Given the description of an element on the screen output the (x, y) to click on. 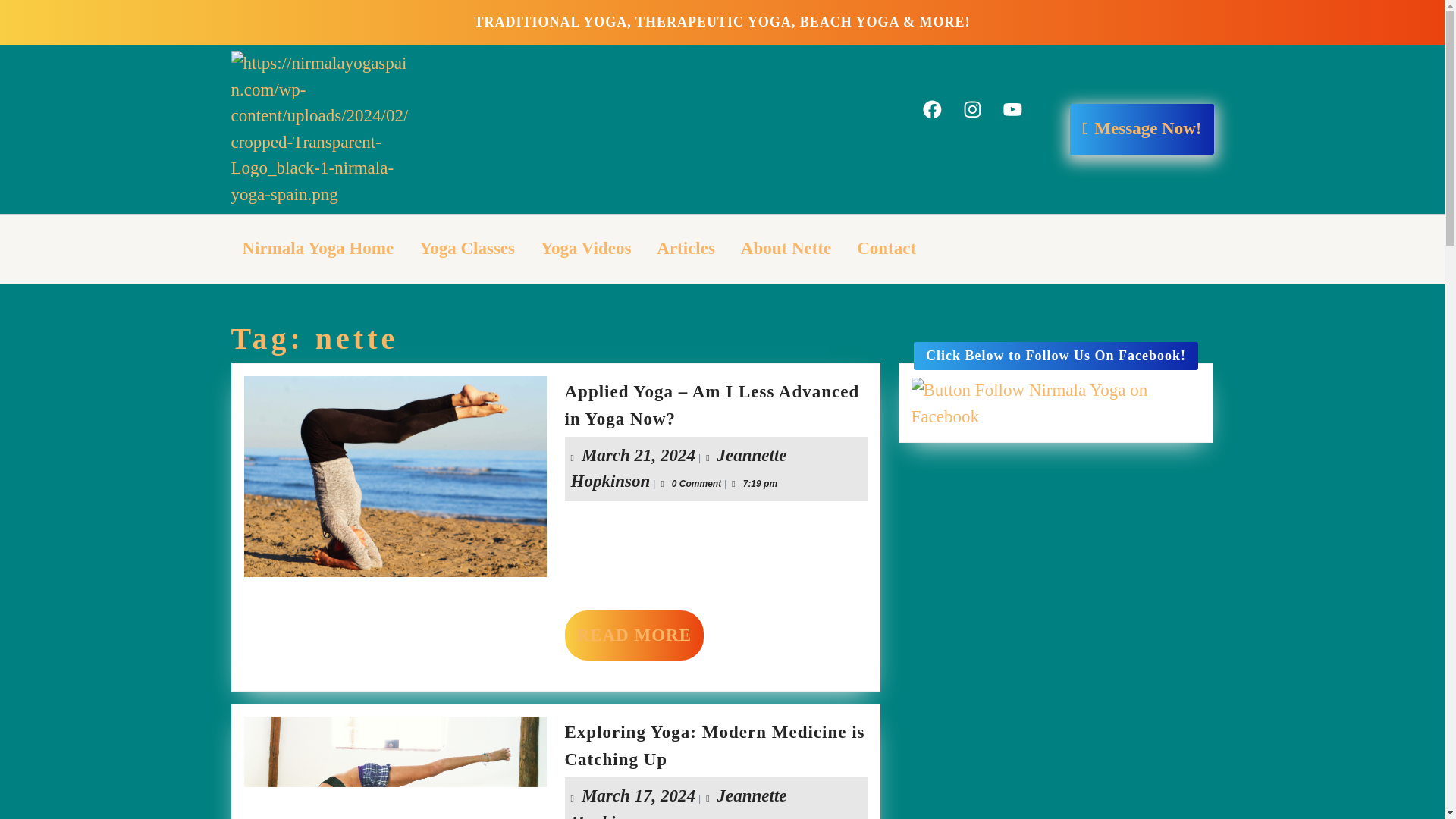
Facebook Link (932, 109)
Instagram Link (633, 634)
Yoga Videos (972, 109)
Nirmala Yoga Home (586, 248)
Contact (317, 248)
About Nette (678, 802)
Yoga Classes (637, 455)
Articles (886, 248)
Message Now! (786, 248)
